Given the description of an element on the screen output the (x, y) to click on. 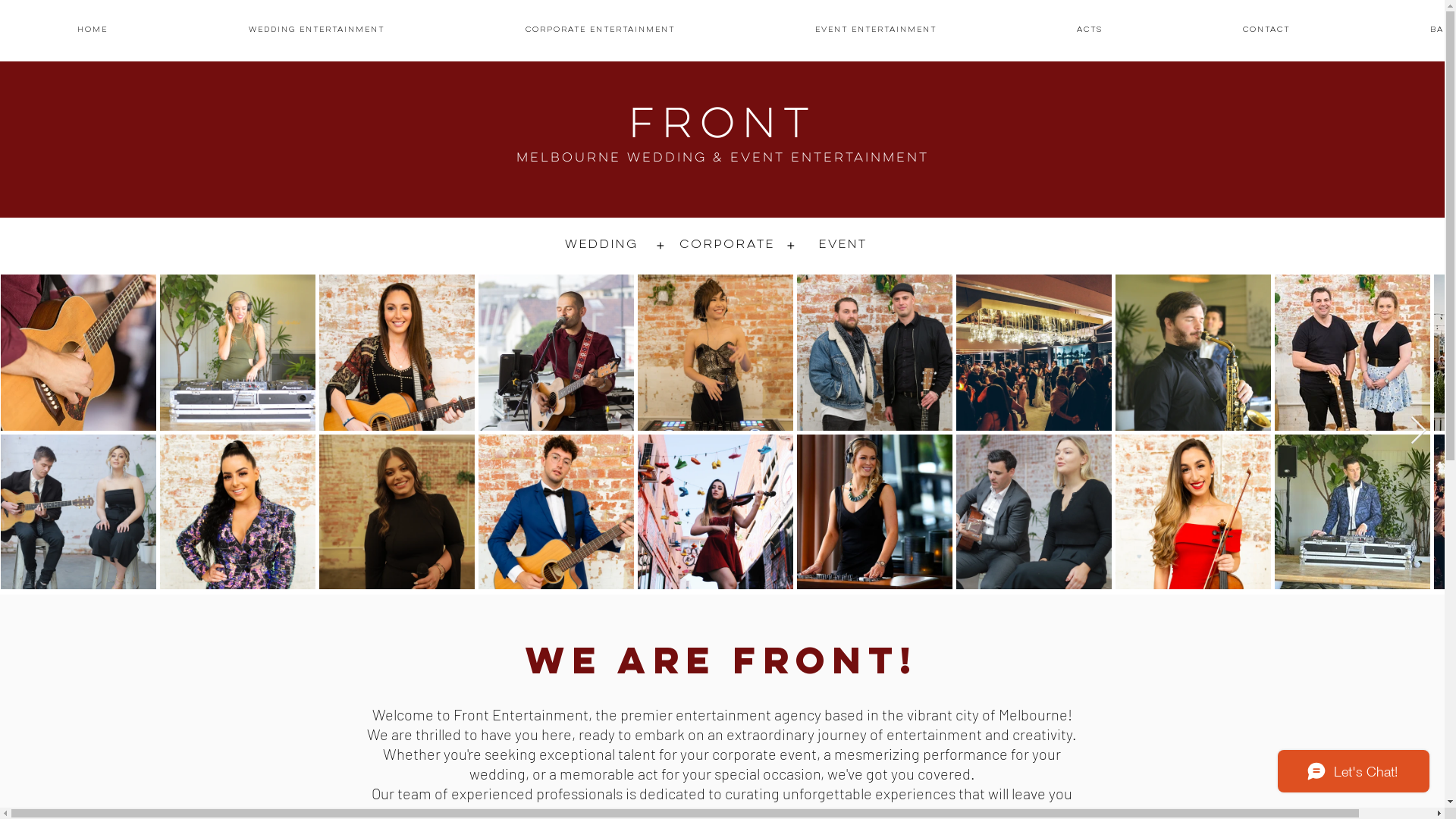
WEDDING Element type: text (601, 245)
WEDDING ENTERTAINMENT Element type: text (315, 30)
ACTS Element type: text (1090, 30)
Wix Chat Element type: hover (1357, 774)
EVENT Element type: text (842, 245)
CORPORATE ENTERTAINMENT Element type: text (600, 30)
CORPORATE Element type: text (727, 245)
EVENT ENTERTAINMENT Element type: text (875, 30)
CONTACT Element type: text (1265, 30)
HOME Element type: text (91, 30)
